Given the description of an element on the screen output the (x, y) to click on. 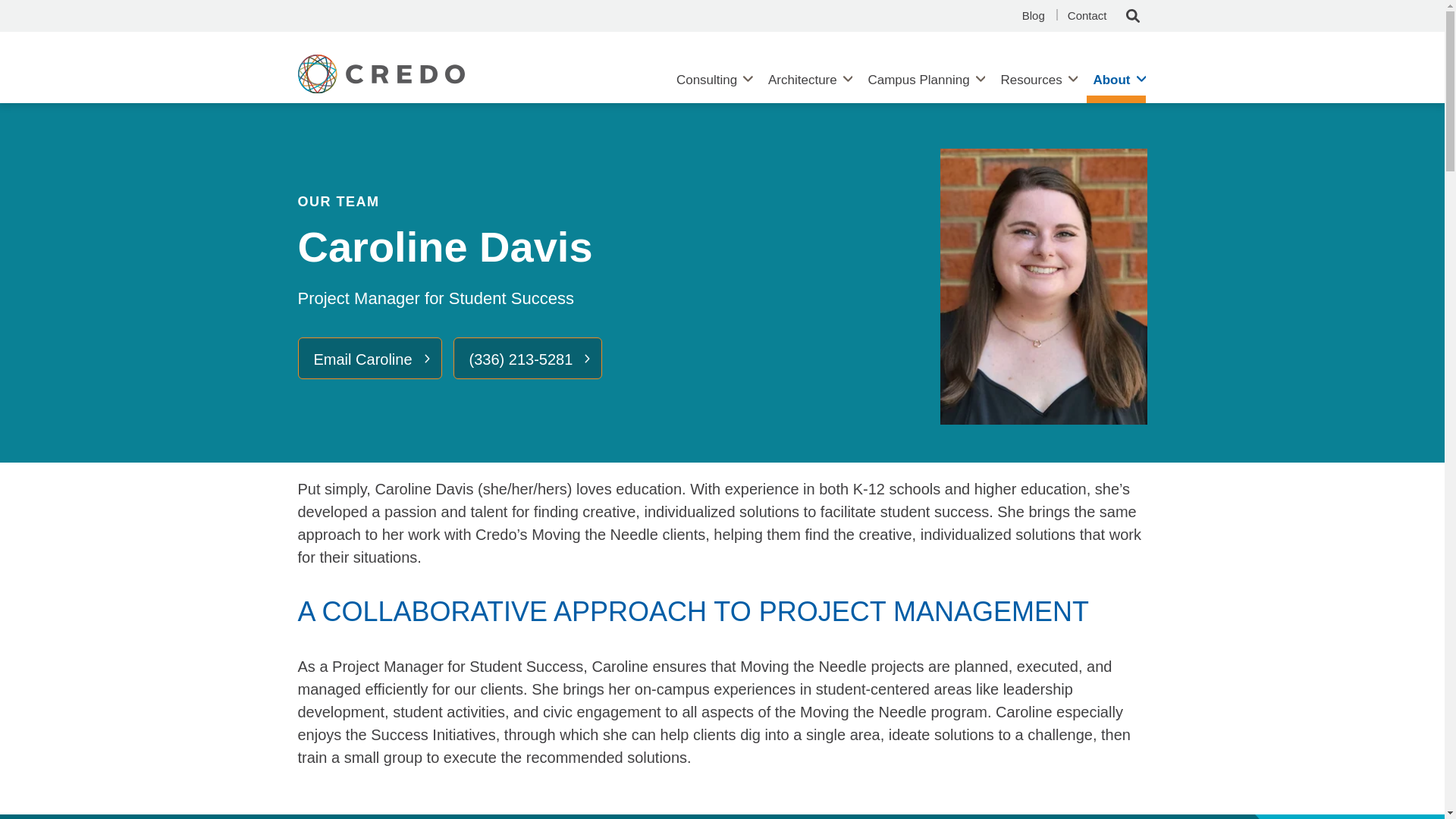
Contact (1087, 15)
Back To Credo's Homepage (437, 78)
Blog (1033, 15)
Architecture (802, 80)
Resources (1030, 80)
Campus Planning (918, 80)
Consulting (705, 80)
